Given the description of an element on the screen output the (x, y) to click on. 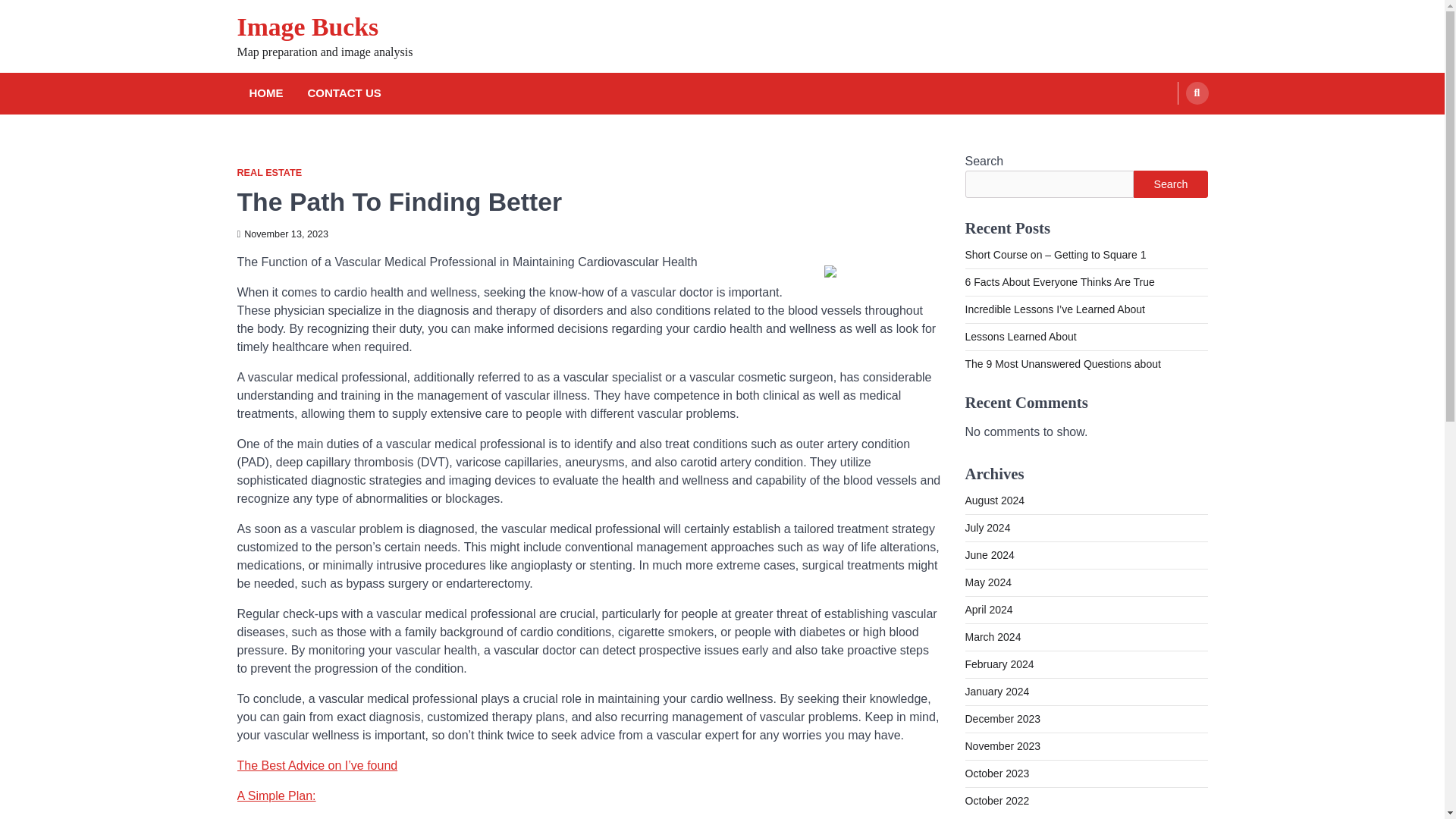
HOME (265, 93)
April 2024 (987, 609)
Image Bucks (306, 26)
Search (1170, 184)
6 Facts About Everyone Thinks Are True (1058, 282)
February 2024 (998, 664)
May 2024 (986, 582)
August 2024 (994, 500)
A Simple Plan: (275, 795)
June 2024 (988, 554)
